Given the description of an element on the screen output the (x, y) to click on. 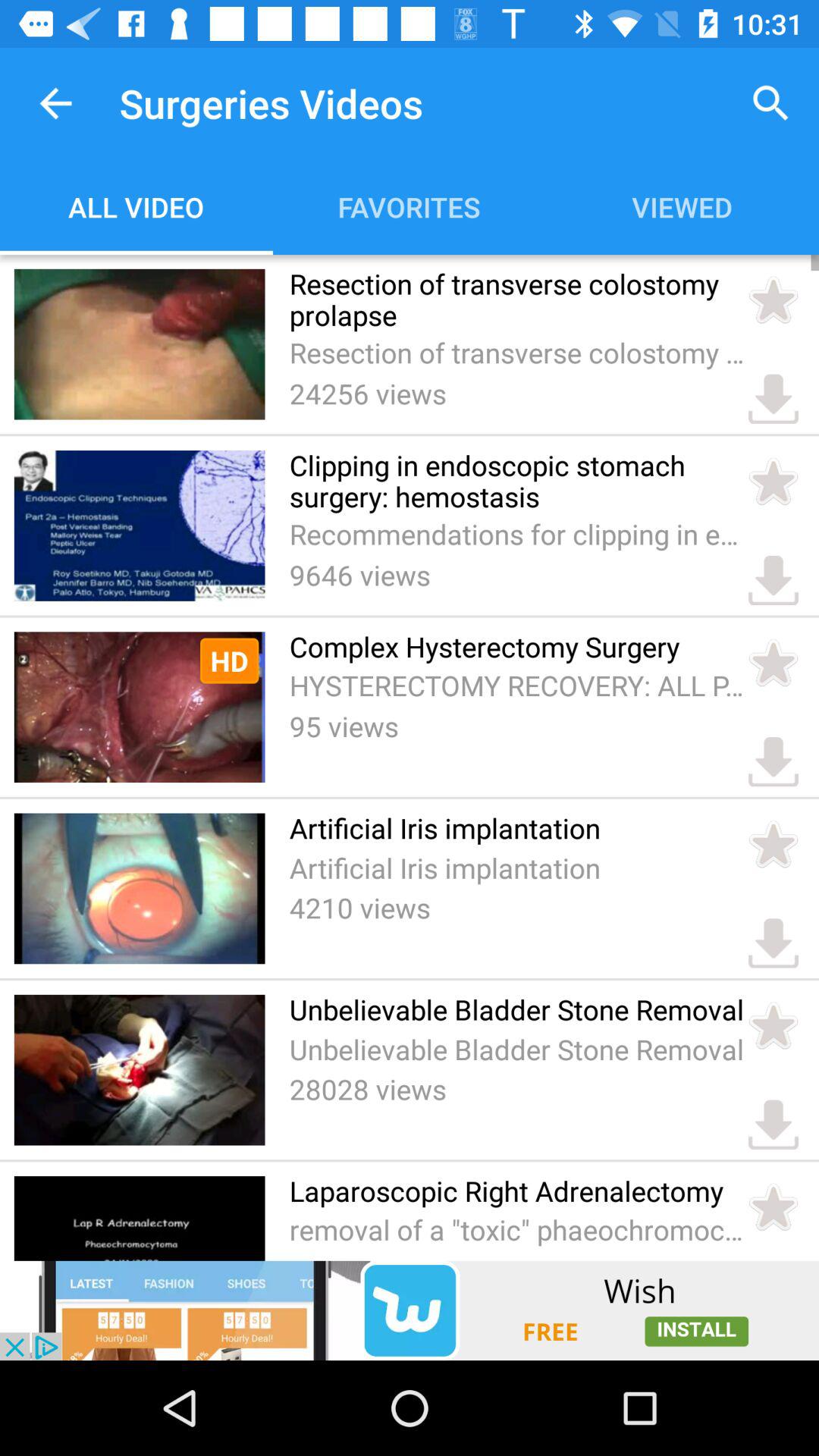
advertisement (409, 1310)
